Given the description of an element on the screen output the (x, y) to click on. 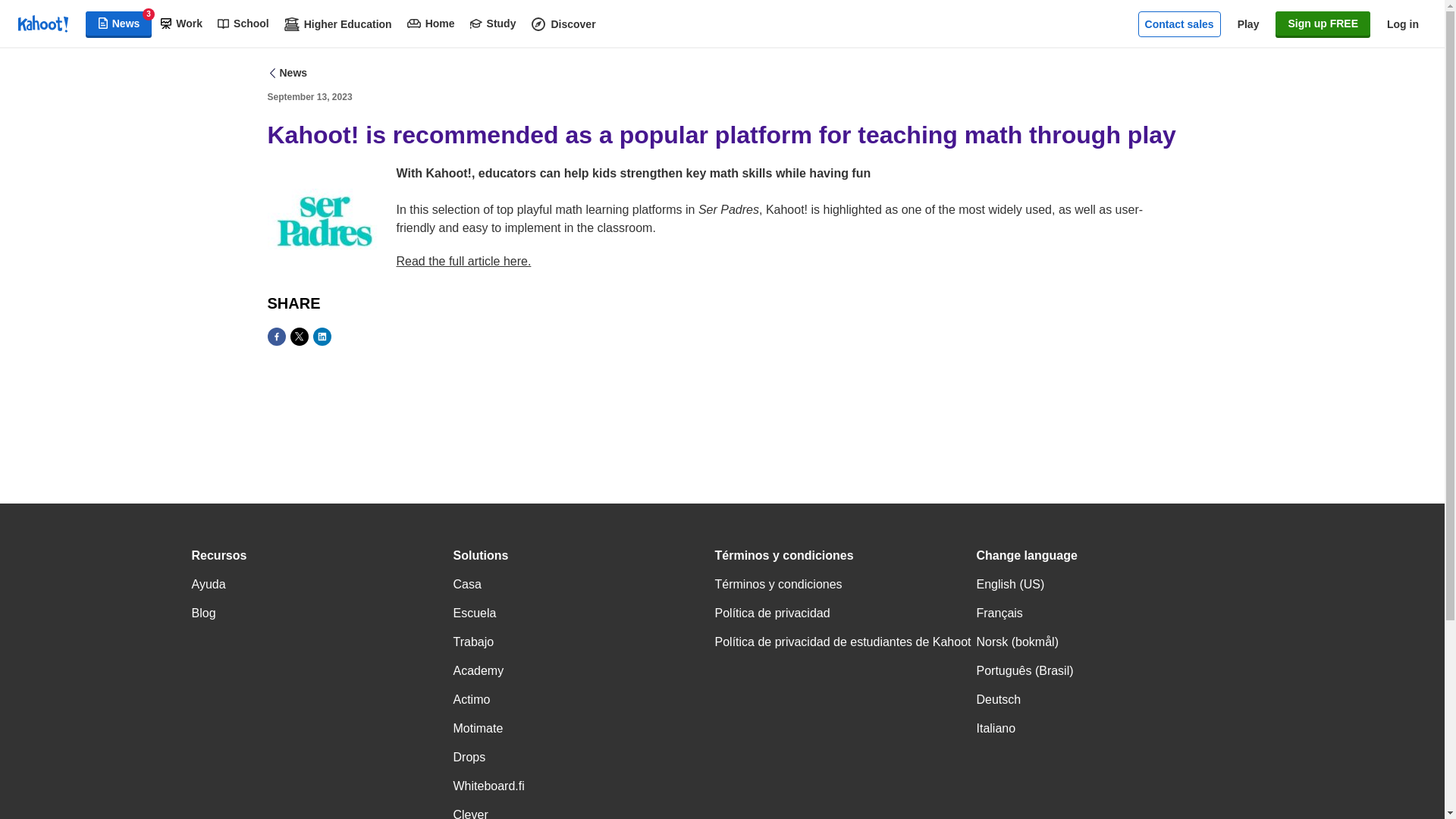
Study (493, 23)
Link to kahoot.com homepage (42, 24)
School (243, 23)
Work (181, 23)
Higher Education (337, 23)
Home (431, 23)
